Given the description of an element on the screen output the (x, y) to click on. 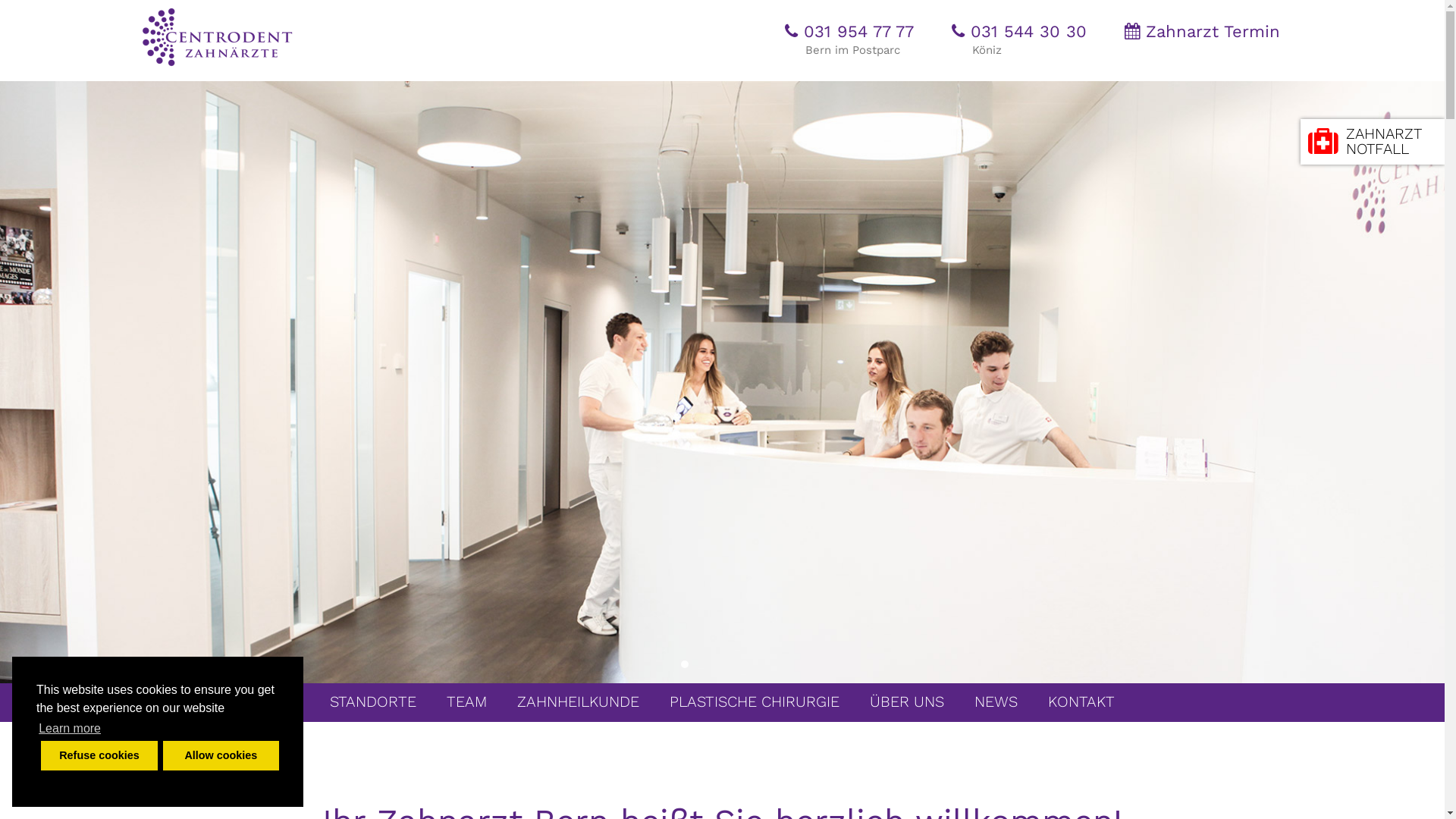
Refuse cookies Element type: text (98, 755)
KONTAKT Element type: text (1081, 699)
Startslide Beratung Invisalign Element type: text (745, 664)
ZAHNHEILKUNDE Element type: text (578, 699)
ZAHNARZT NOTFALL Element type: text (1372, 141)
Startslide Bhz Element type: text (730, 664)
NEWS Element type: text (995, 699)
Allow cookies Element type: text (221, 755)
PLASTISCHE CHIRURGIE Element type: text (754, 699)
STANDORTE Element type: text (372, 699)
Learn more Element type: text (69, 728)
031 544 30 30 Element type: text (1017, 30)
031 954 77 77 Element type: text (848, 30)
Zahnarzt Termin Element type: text (1201, 30)
Startslide Rezeption Element type: text (684, 664)
TEAM Element type: text (466, 699)
Startslide Rezeption Patienten Element type: text (760, 664)
